Given the description of an element on the screen output the (x, y) to click on. 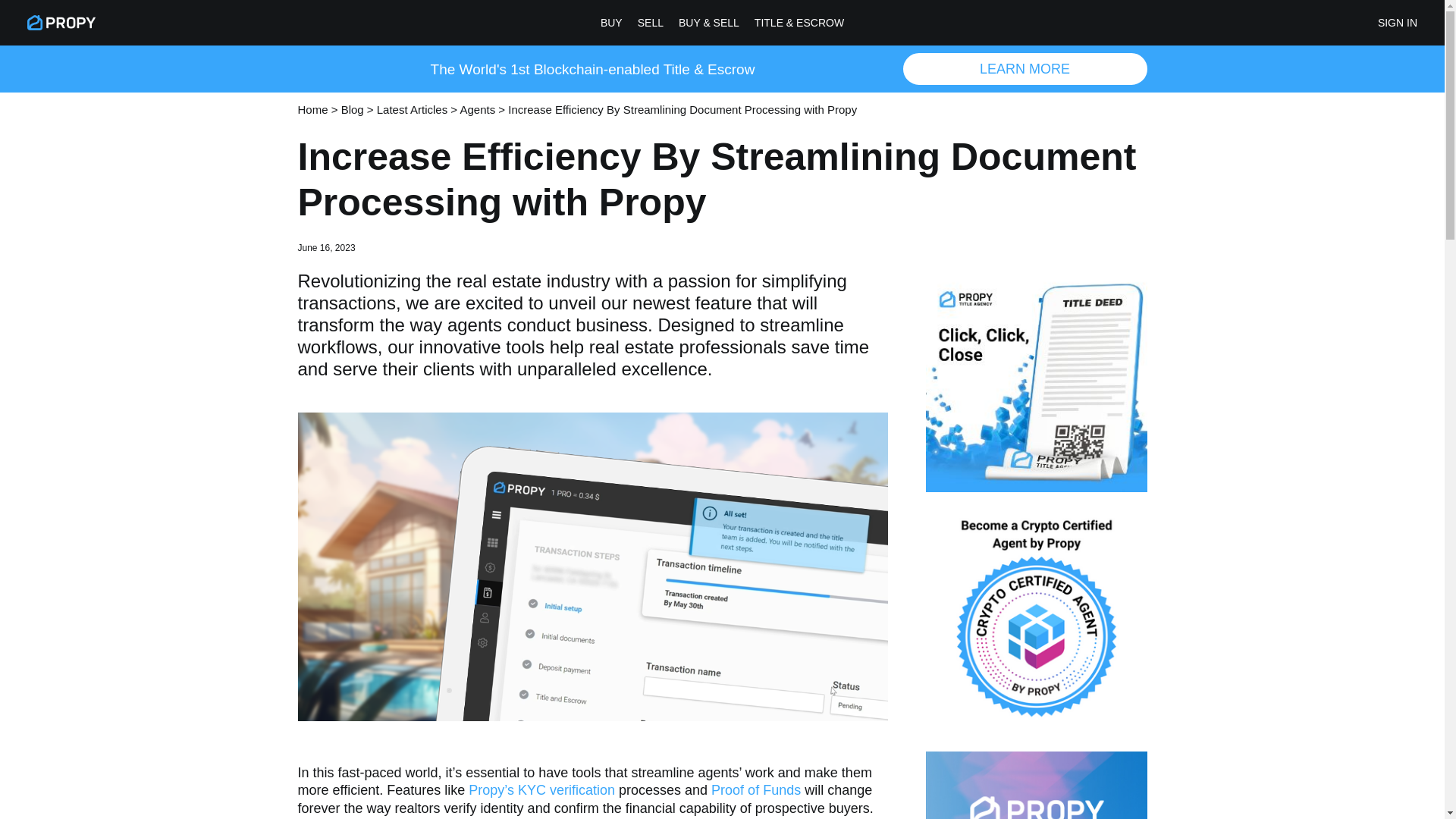
BUY (611, 22)
LEARN MORE (1024, 69)
June 16, 2023 (326, 247)
Skip to content (15, 7)
Blog (352, 109)
Latest Articles (411, 109)
Propy (61, 22)
Home (312, 109)
Agents (477, 109)
Proof of Funds (755, 789)
